Given the description of an element on the screen output the (x, y) to click on. 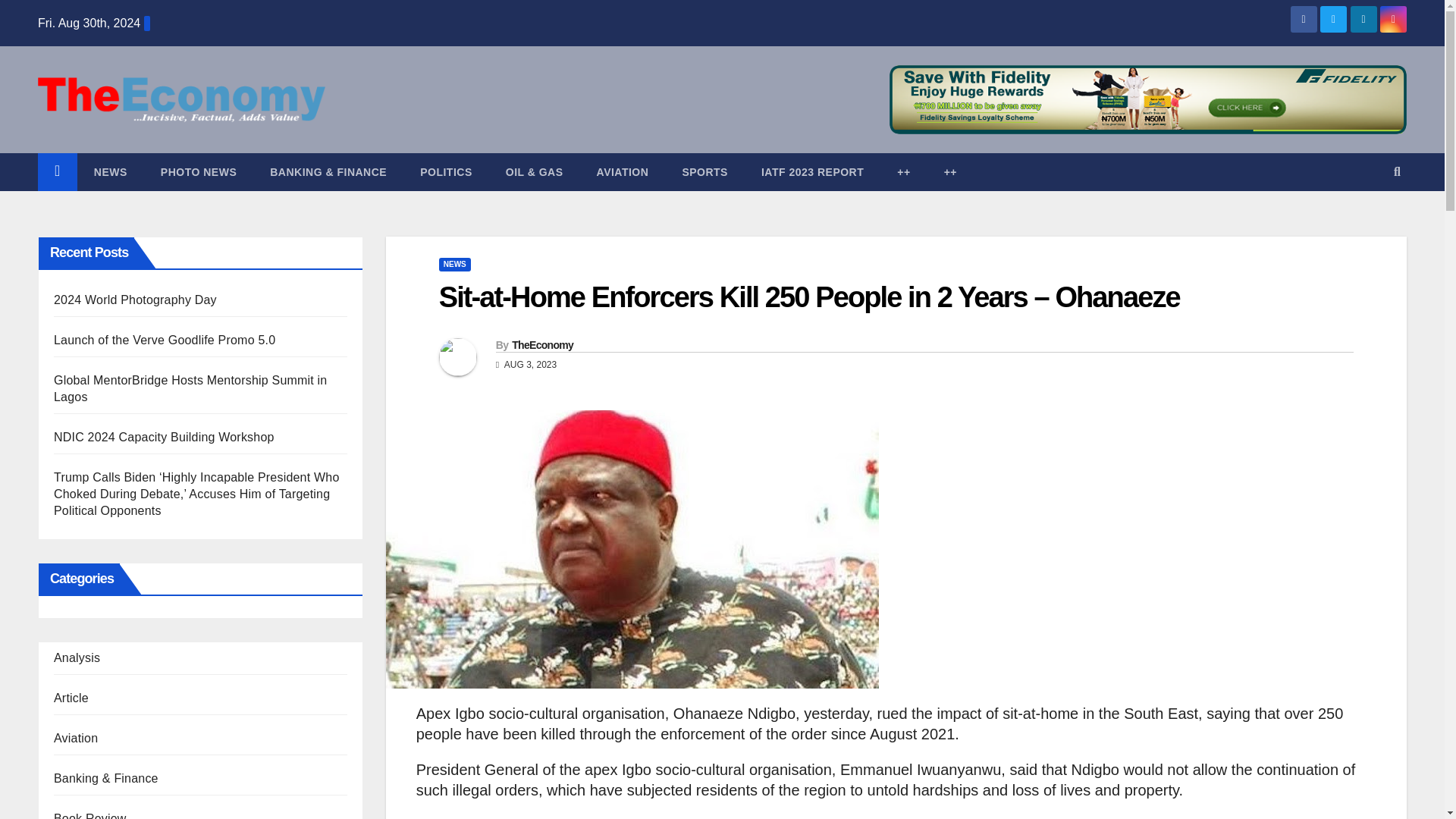
Politics (446, 171)
POLITICS (446, 171)
PHOTO NEWS (198, 171)
Sports (704, 171)
IATF 2023 REPORT (812, 171)
Aviation (622, 171)
SPORTS (704, 171)
News (110, 171)
IATF 2023 REPORT (812, 171)
Photo News (198, 171)
